Given the description of an element on the screen output the (x, y) to click on. 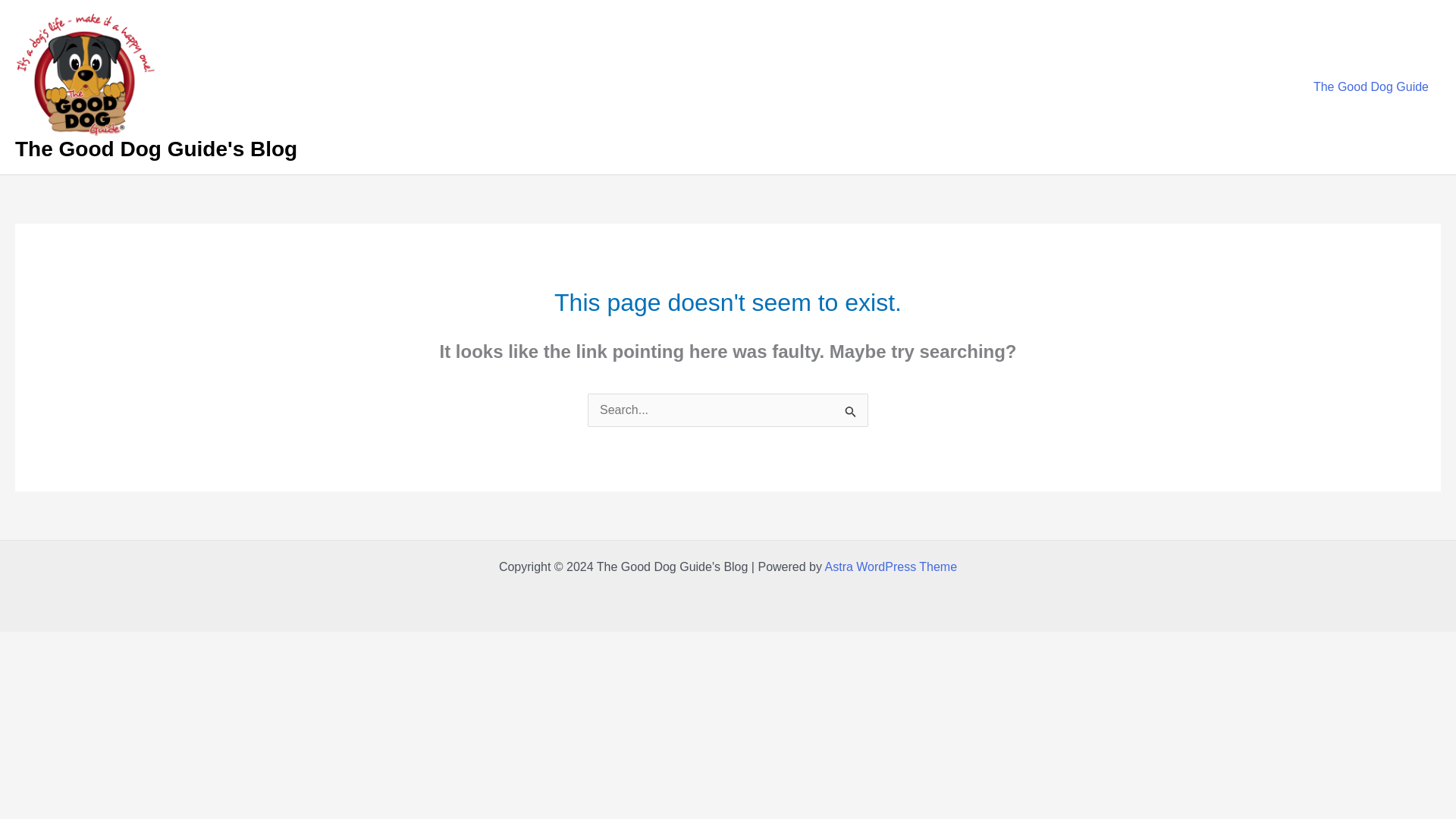
The Good Dog Guide (1371, 86)
Astra WordPress Theme (891, 566)
The Good Dog Guide's Blog (155, 148)
